Given the description of an element on the screen output the (x, y) to click on. 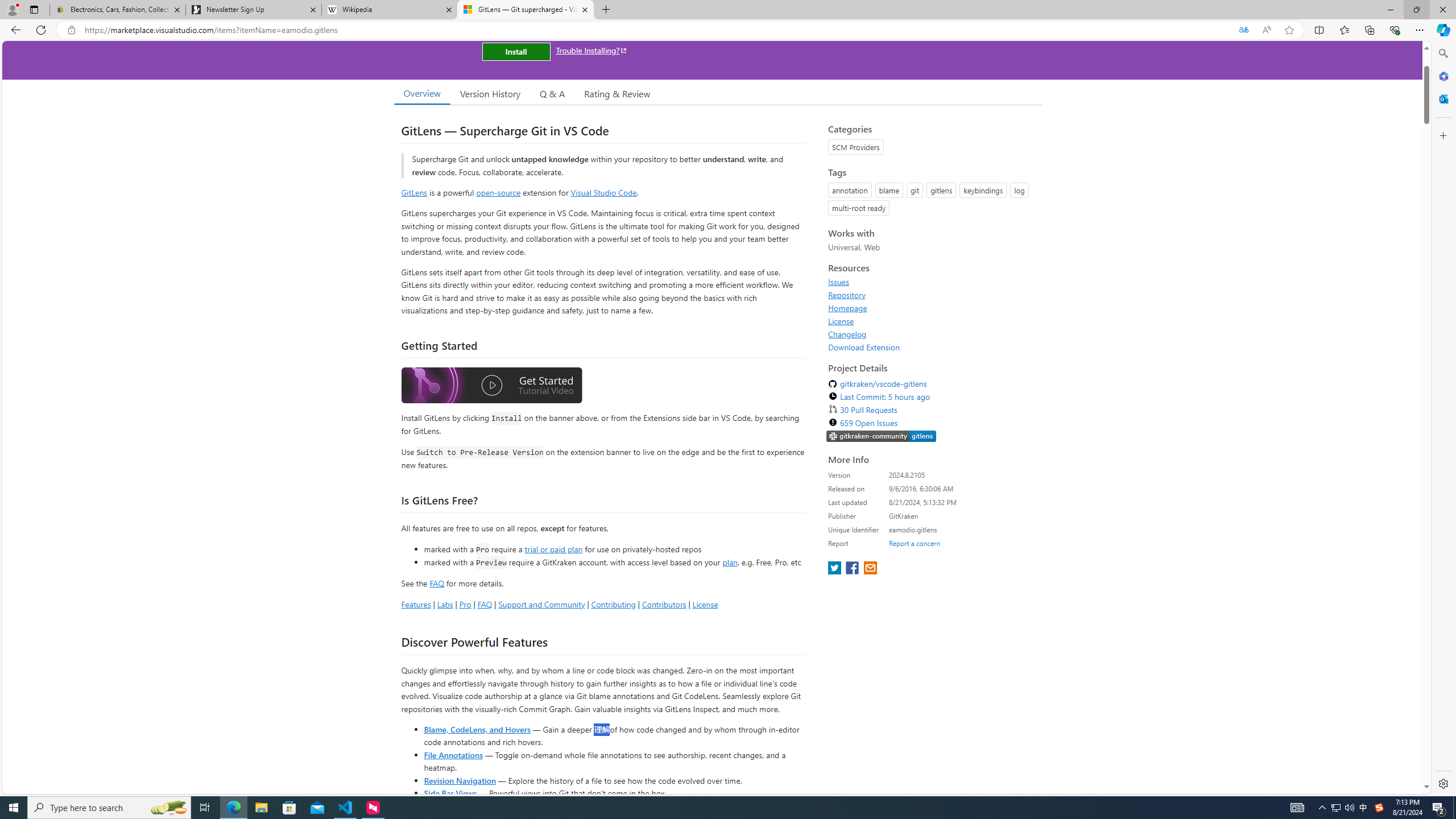
Contributors (663, 603)
share extension on facebook (853, 568)
License (931, 320)
Features (415, 603)
Watch the GitLens Getting Started video (491, 385)
https://slack.gitkraken.com// (881, 436)
Issues (838, 281)
Side Bar Views (449, 792)
